Given the description of an element on the screen output the (x, y) to click on. 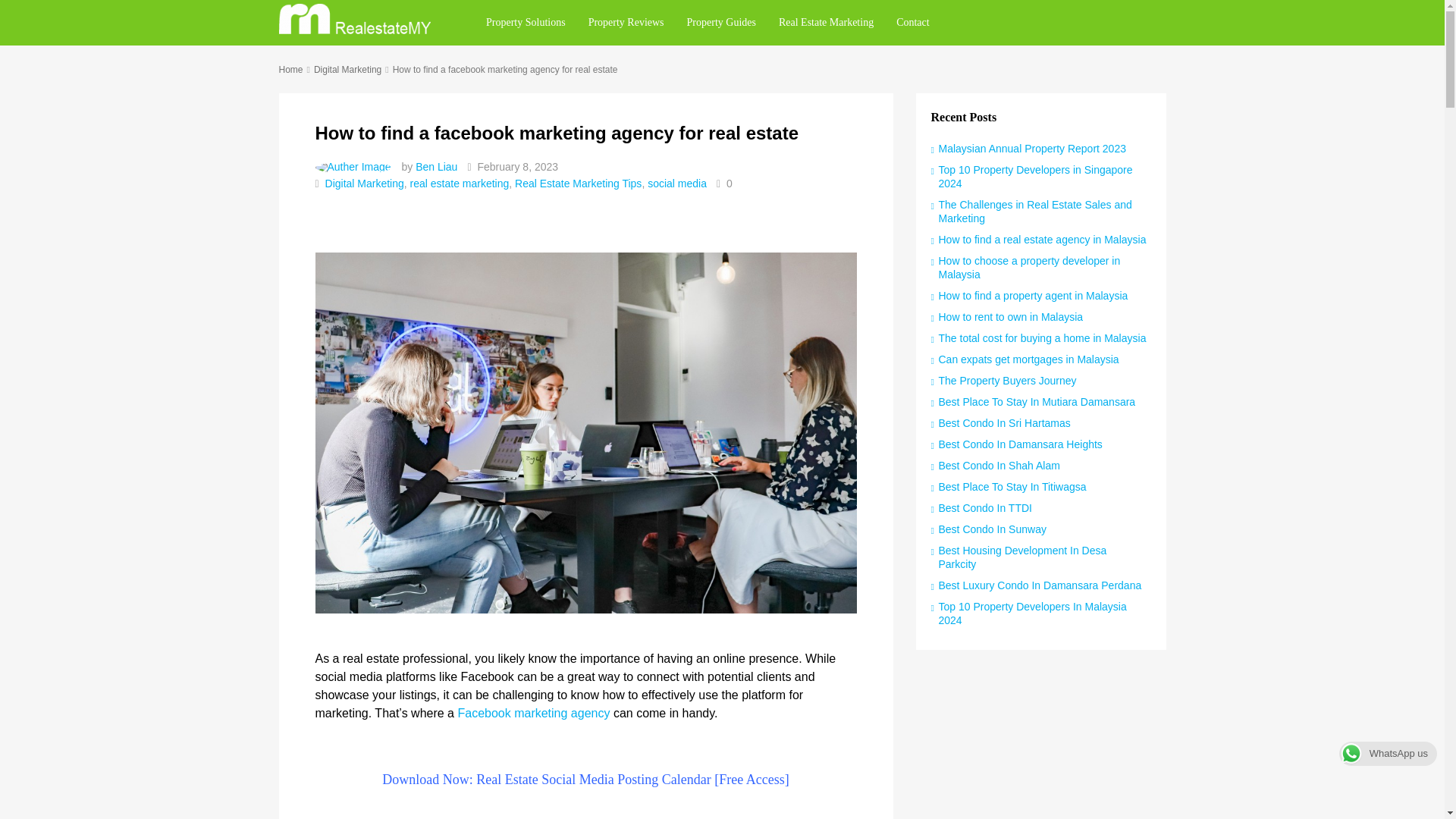
Real Estate Marketing (826, 22)
social media (676, 183)
Contact (912, 22)
Digital Marketing (364, 183)
Property Reviews (625, 22)
Property Guides (721, 22)
Facebook marketing agency (533, 712)
real estate marketing (459, 183)
Property Solutions (525, 22)
Home (290, 69)
Ben Liau (435, 166)
Real Estate Marketing Tips (578, 183)
Digital Marketing (347, 69)
